Given the description of an element on the screen output the (x, y) to click on. 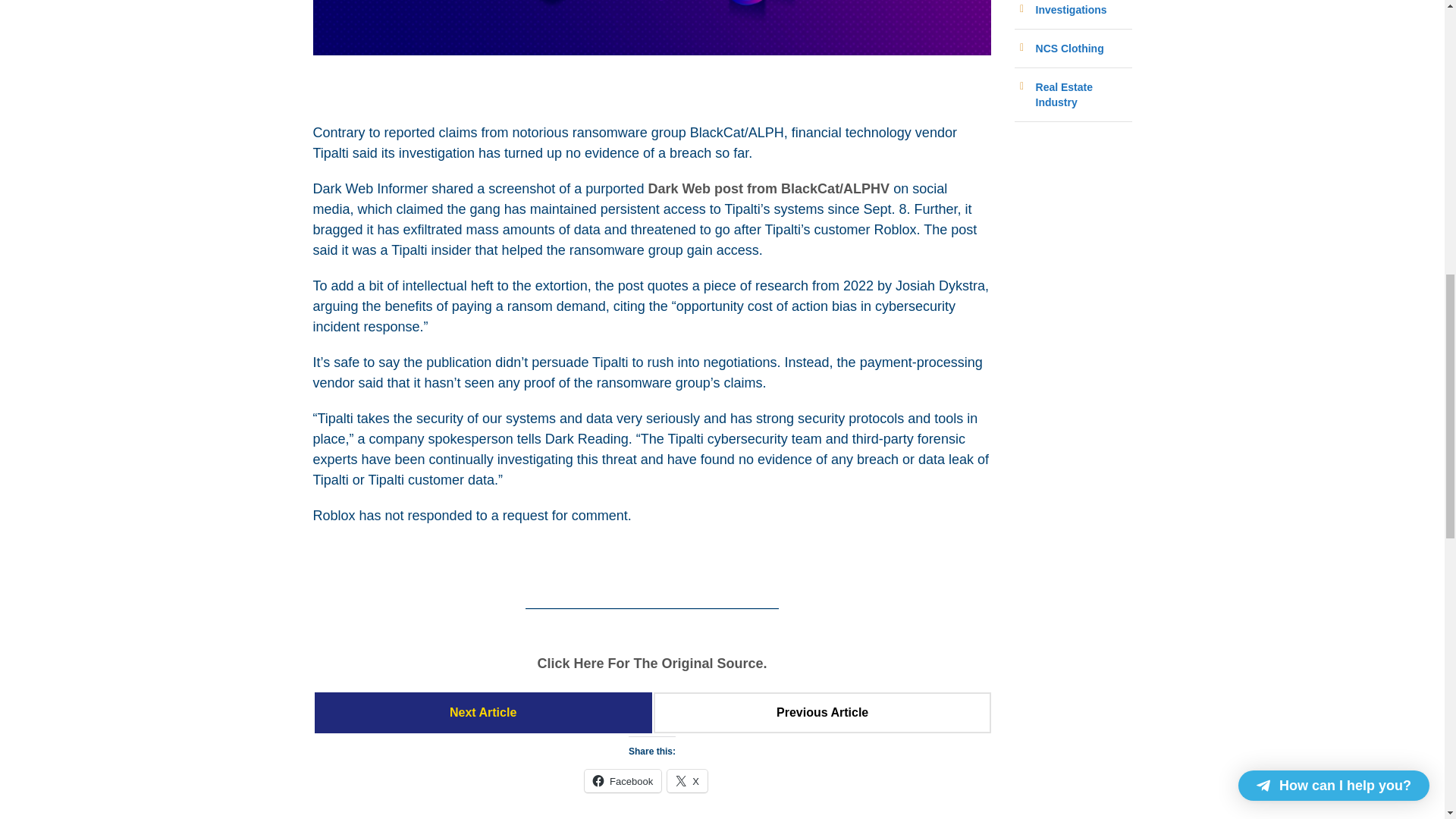
Click to share on X (686, 780)
Click to share on Facebook (623, 780)
